Given the description of an element on the screen output the (x, y) to click on. 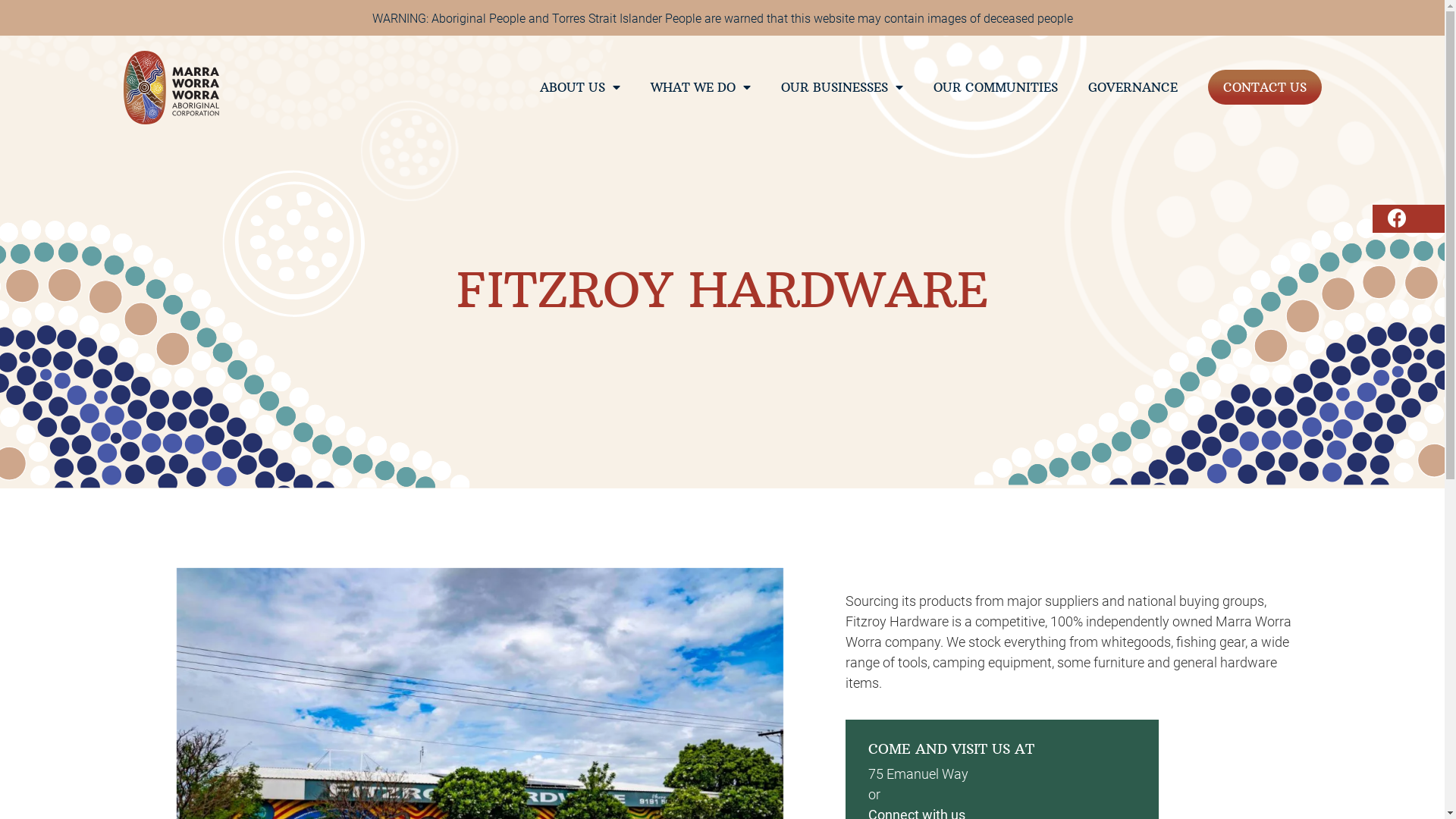
WHAT WE DO Element type: text (700, 86)
OUR BUSINESSES Element type: text (841, 86)
GOVERNANCE Element type: text (1132, 86)
CONTACT US Element type: text (1264, 86)
ABOUT US Element type: text (579, 86)
OUR COMMUNITIES Element type: text (994, 86)
